Given the description of an element on the screen output the (x, y) to click on. 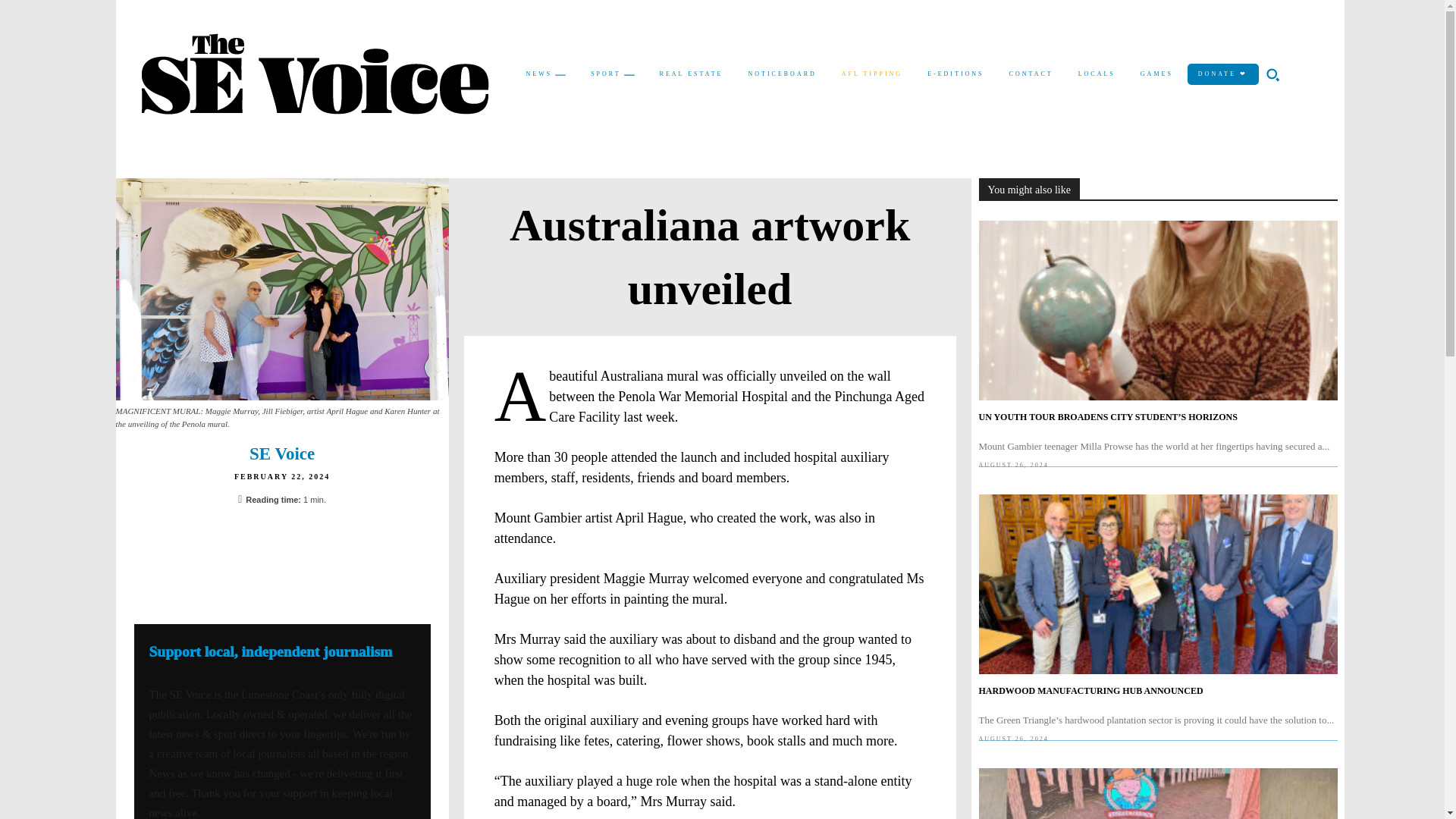
NOTICEBOARD (781, 74)
REAL ESTATE (691, 74)
SPORT (612, 74)
LOCALS (1096, 74)
AFL TIPPING (871, 74)
GAMES (1156, 74)
CONTACT (1031, 74)
NEWS (545, 74)
22.2 Unveiling of the mural (281, 289)
E-EDITIONS (955, 74)
